Given the description of an element on the screen output the (x, y) to click on. 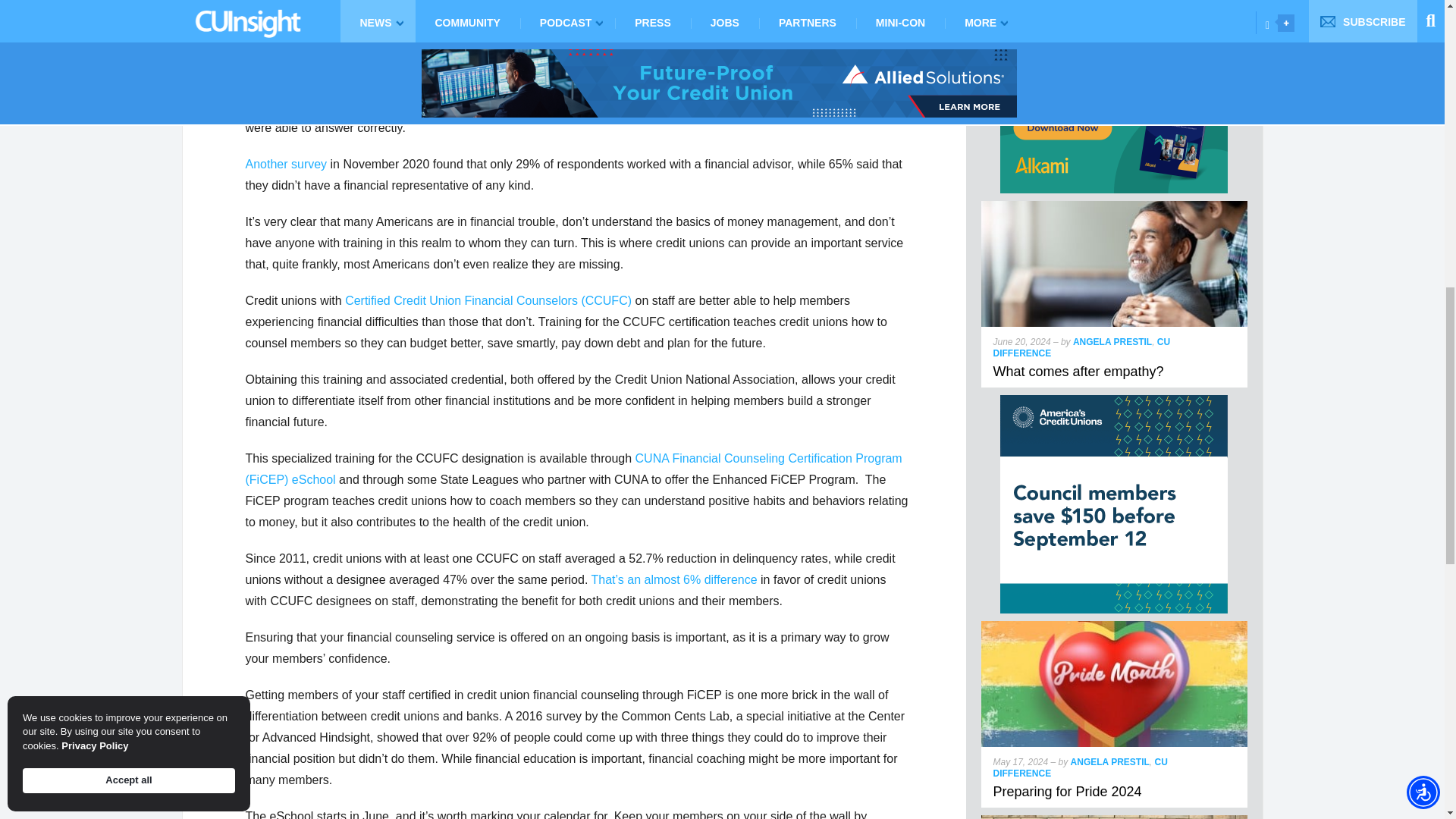
Preparing for Pride 2024 (1114, 626)
Preparing for Pride 2024 (1066, 791)
Why are we so lonely? (1114, 816)
What comes after empathy? (1114, 206)
What comes after empathy? (1077, 371)
